Given the description of an element on the screen output the (x, y) to click on. 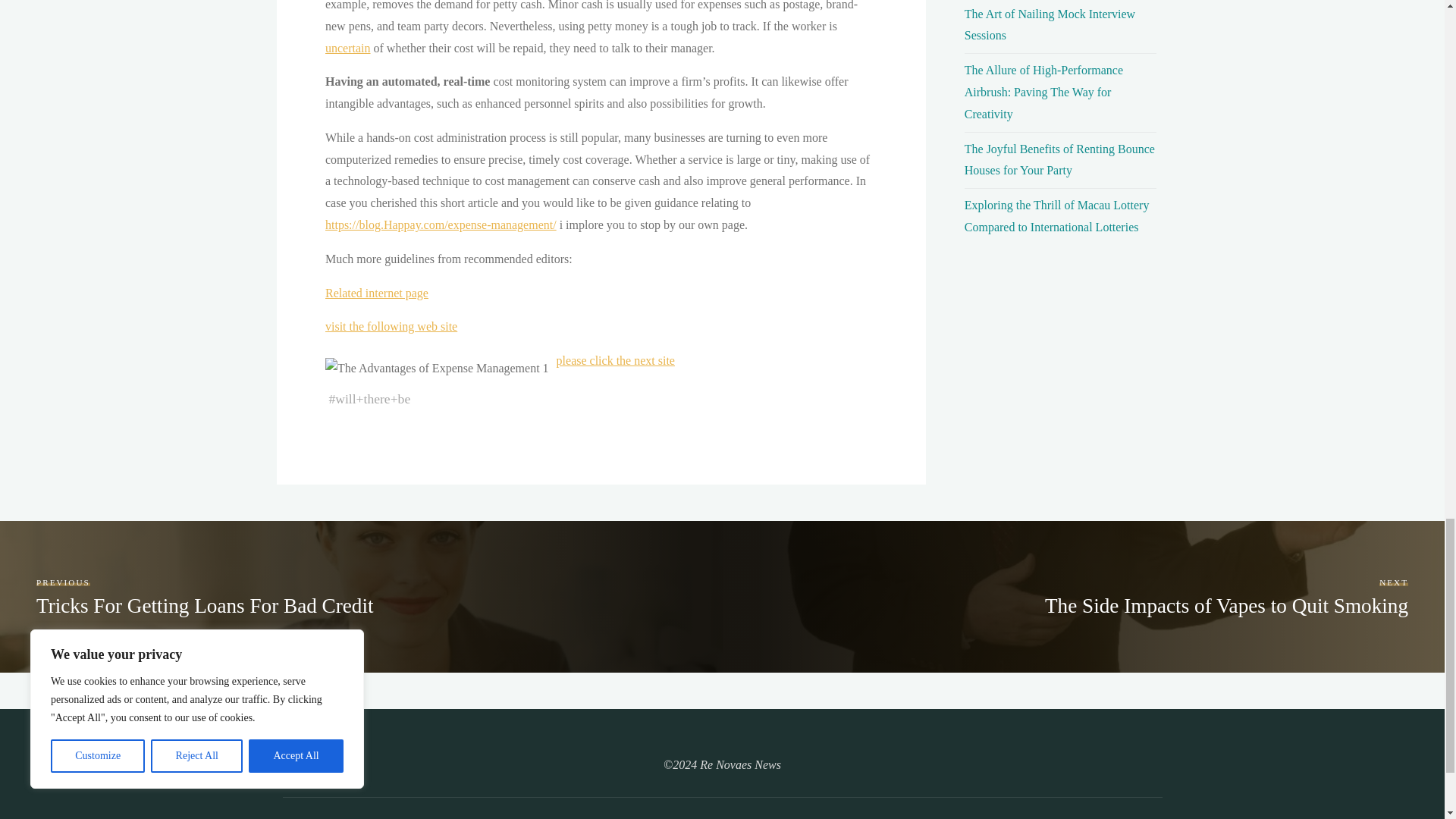
please click the next site (615, 359)
visit the following web site (390, 326)
Related internet page (376, 292)
uncertain (346, 47)
